Given the description of an element on the screen output the (x, y) to click on. 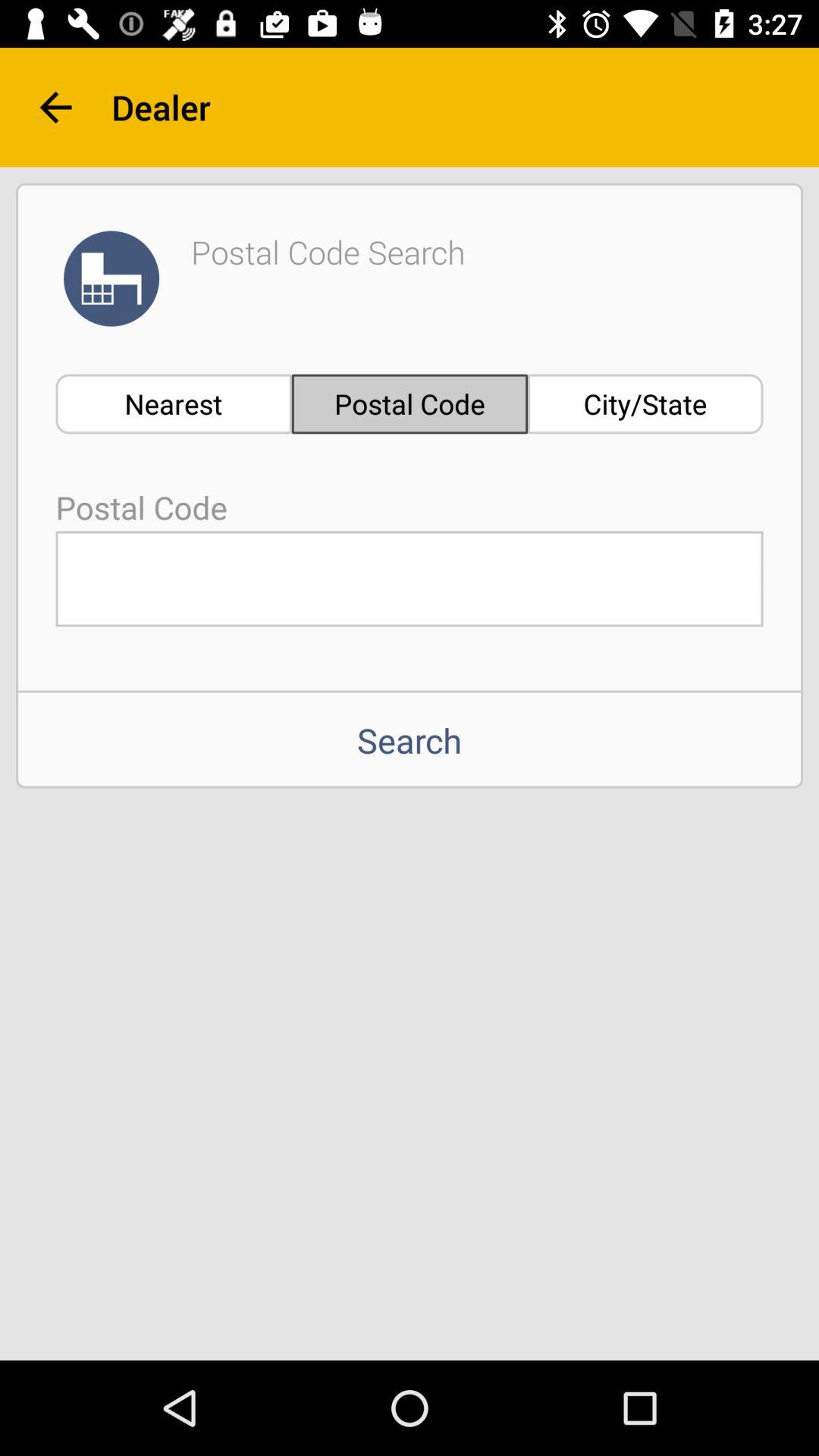
launch icon next to the postal code (645, 403)
